Given the description of an element on the screen output the (x, y) to click on. 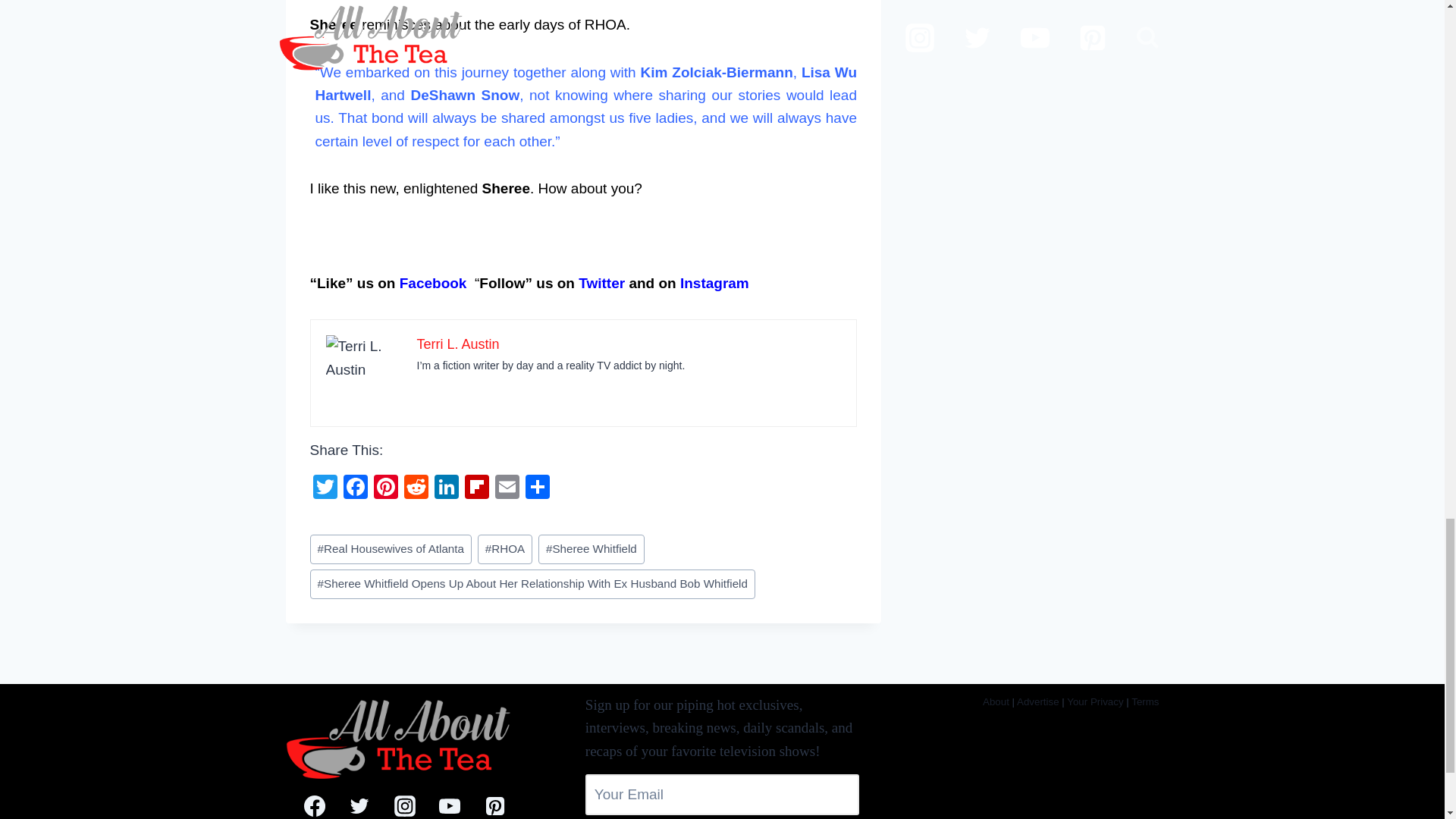
Instagram (714, 283)
Flipboard (476, 488)
Twitter (323, 488)
Pinterest (384, 488)
Terri L. Austin (457, 344)
Twitter (601, 283)
Twitter (323, 488)
LinkedIn (445, 488)
Facebook (432, 283)
Facebook (354, 488)
Reddit (415, 488)
